Given the description of an element on the screen output the (x, y) to click on. 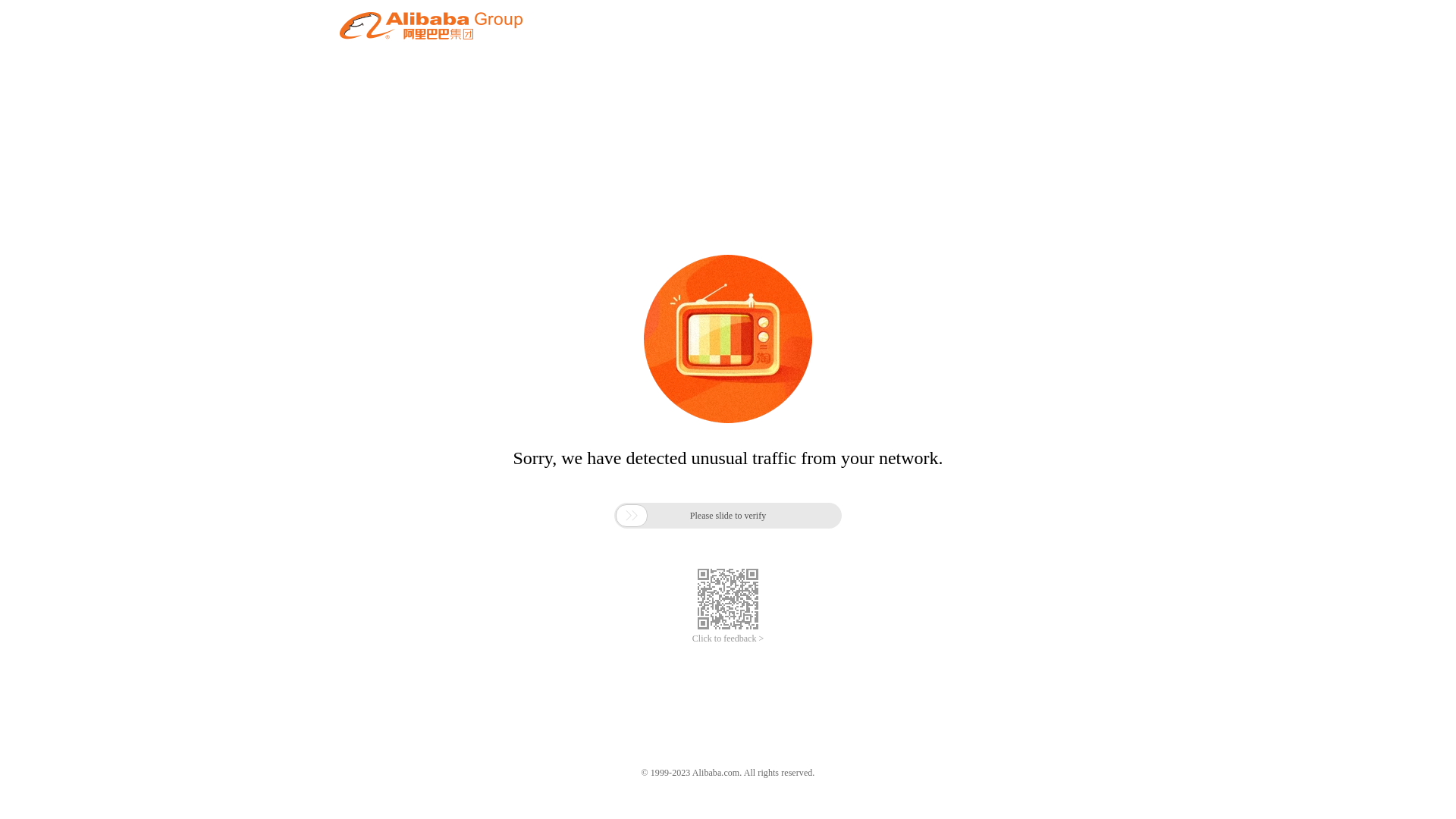
Click to feedback > Element type: text (727, 638)
